Given the description of an element on the screen output the (x, y) to click on. 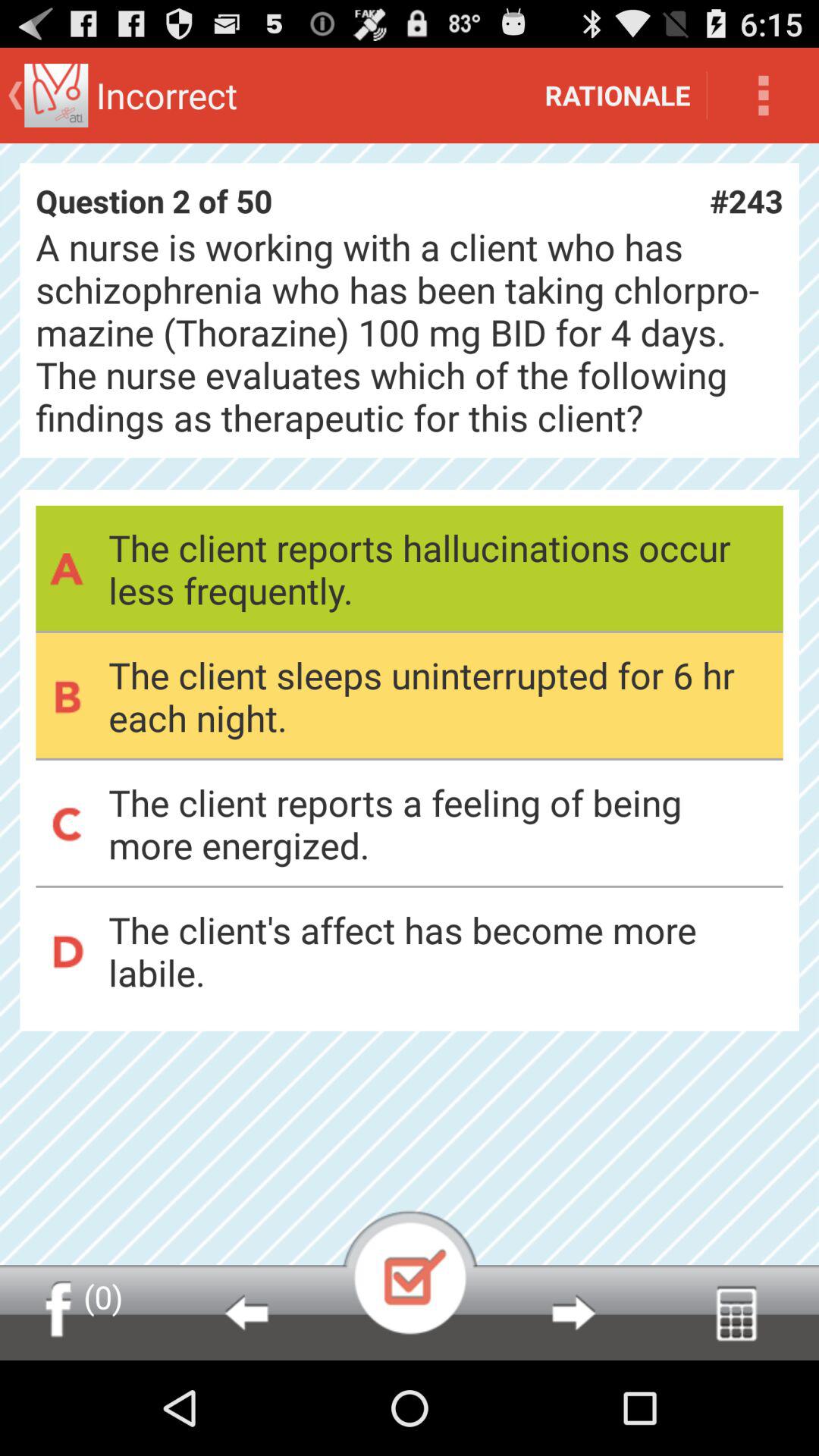
go back (245, 1312)
